Given the description of an element on the screen output the (x, y) to click on. 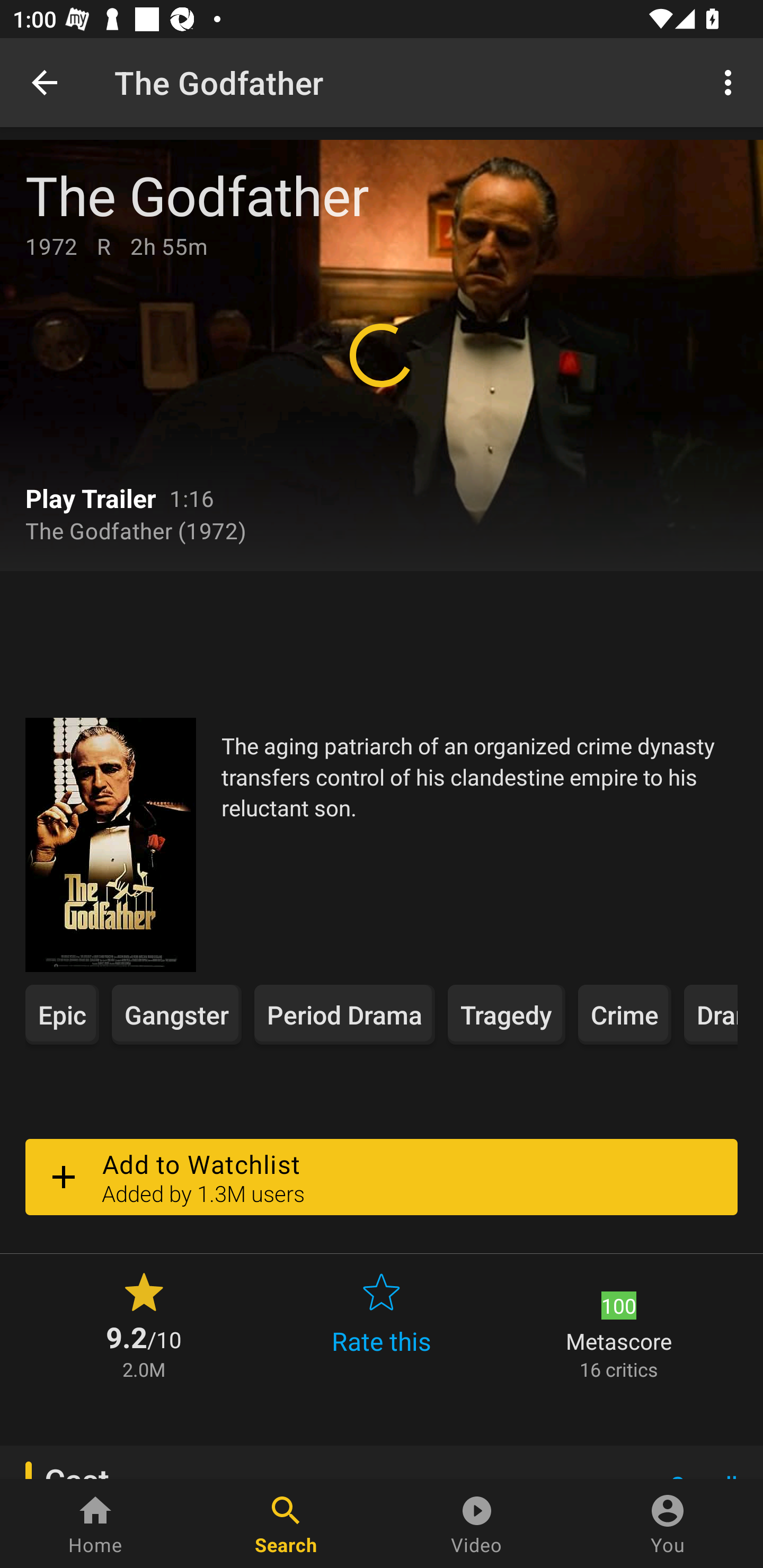
More options (731, 81)
toggle controls (381, 354)
Epic (62, 1014)
Gangster (176, 1014)
Period Drama (344, 1014)
Tragedy (506, 1014)
Crime (624, 1014)
Drama (710, 1014)
Add to Watchlist Added by 1.3M users (381, 1176)
9.2 /10 2.0M (143, 1323)
Rate this (381, 1323)
100 Metascore 16 critics (618, 1323)
Home (95, 1523)
Video (476, 1523)
You (667, 1523)
